Given the description of an element on the screen output the (x, y) to click on. 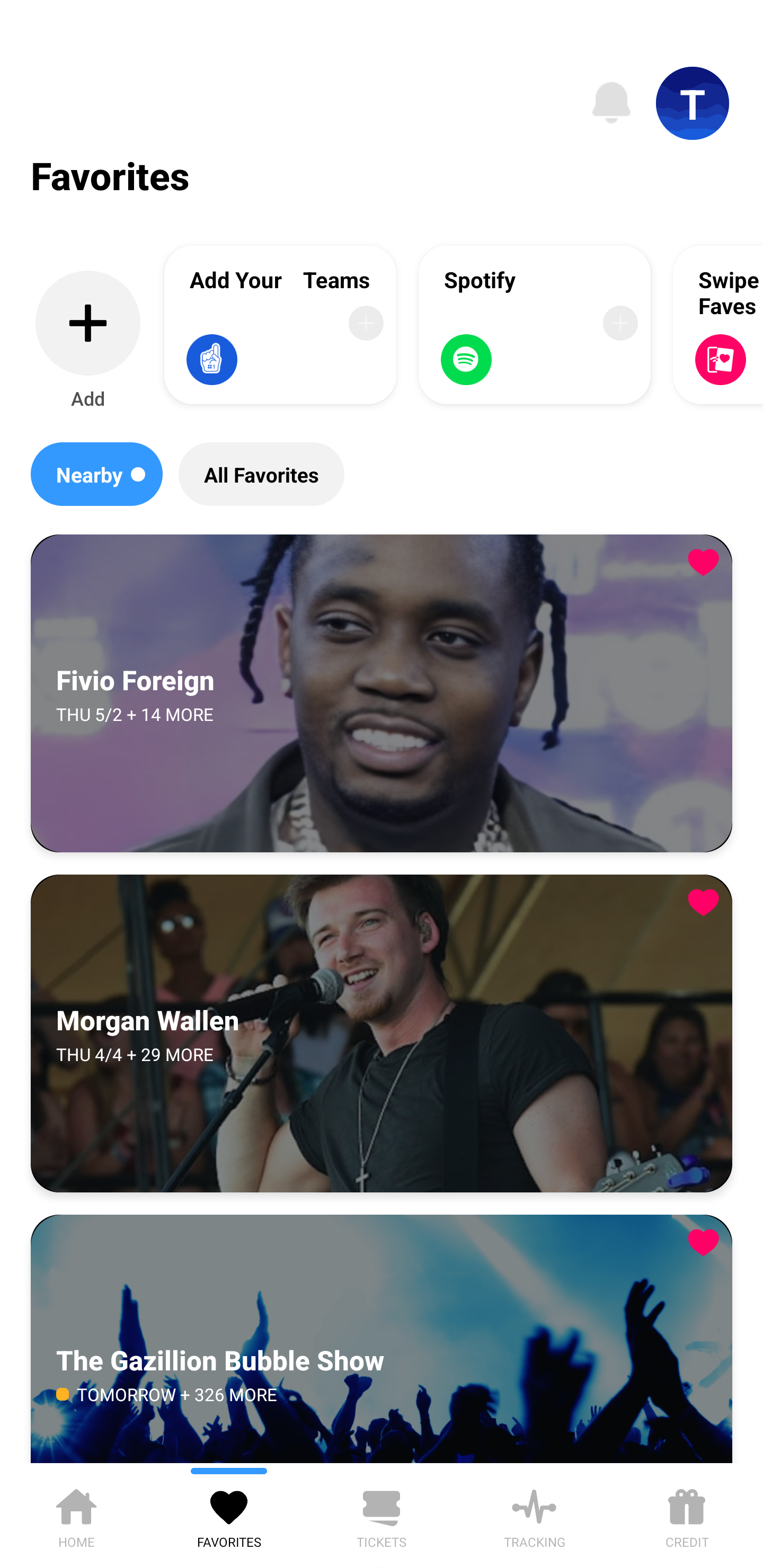
T (692, 103)
Add Your    Teams (279, 324)
Spotify (534, 324)
Add (87, 340)
Nearby (96, 474)
All Favorites (261, 474)
HOME (76, 1515)
FAVORITES (228, 1515)
TICKETS (381, 1515)
TRACKING (533, 1515)
CREDIT (686, 1515)
